Given the description of an element on the screen output the (x, y) to click on. 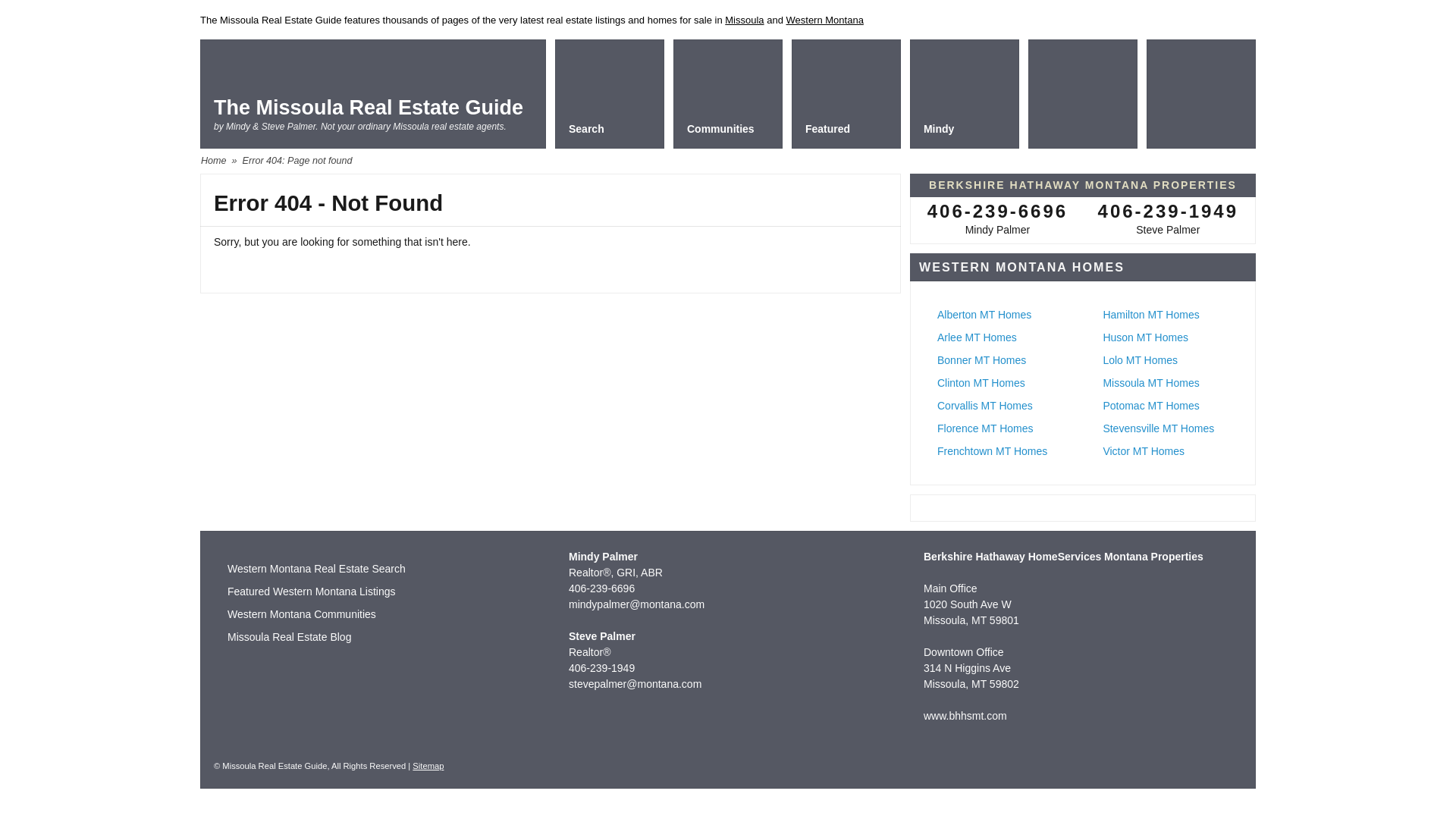
Communities (727, 93)
Homes for sale in Bonner, MT (981, 359)
Alberton MT Homes (983, 314)
Arlee MT Homes (976, 337)
Browse homes for sale in Western Montana Communities (301, 613)
Homes for sale in Potomac, MT (1150, 405)
Search (608, 93)
Home (213, 160)
The Missoula Real Estate Guide (368, 107)
Western Montana (824, 19)
